Given the description of an element on the screen output the (x, y) to click on. 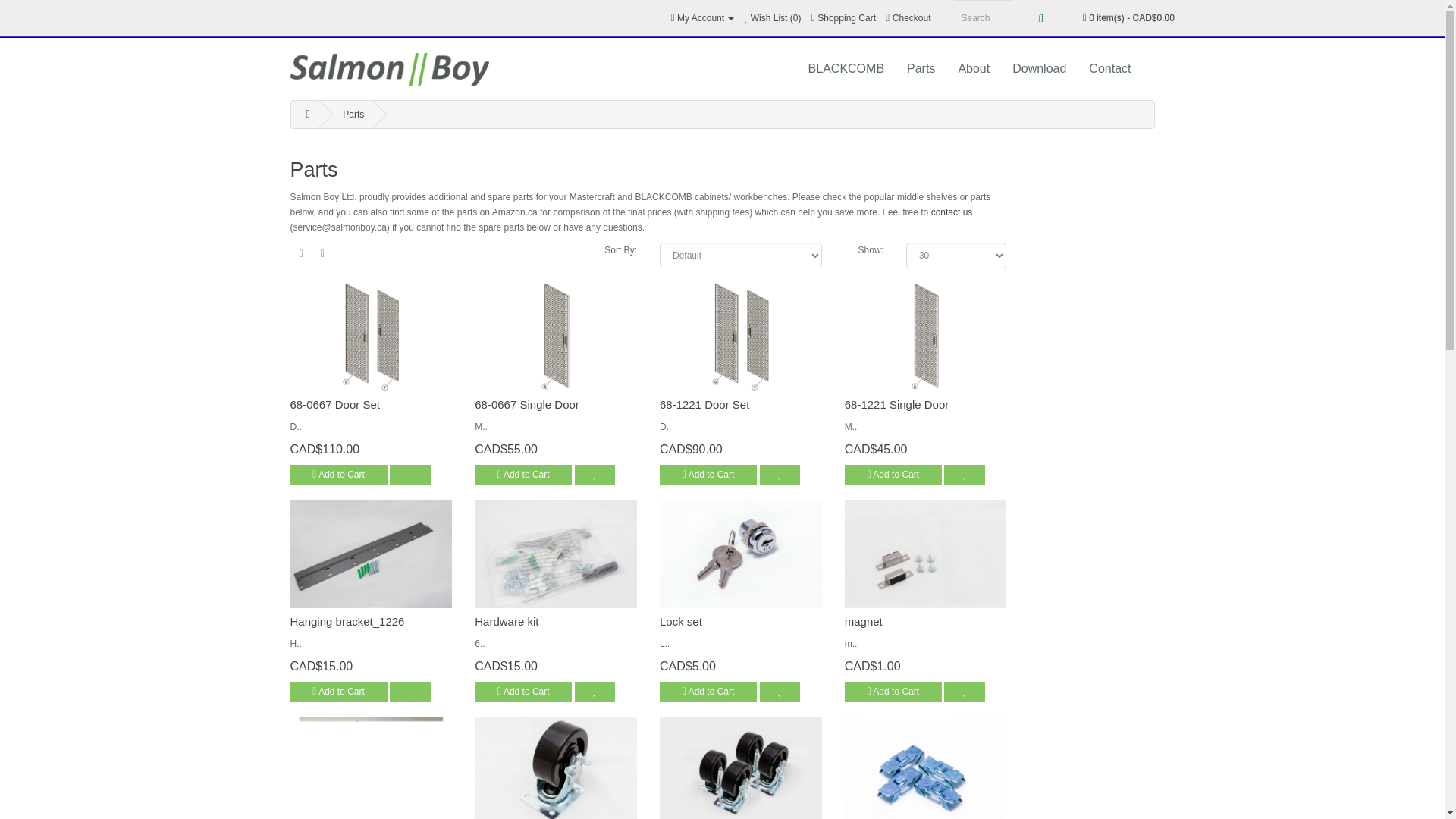
Add to Cart (523, 475)
68-1221 Door Set (740, 337)
Salmon Boy (389, 69)
Add to Cart (708, 475)
68-0667 Door Set (333, 404)
Contact (1109, 69)
68-0667 Single Door (526, 404)
My Account (703, 18)
Checkout (907, 18)
Parts (920, 69)
